Given the description of an element on the screen output the (x, y) to click on. 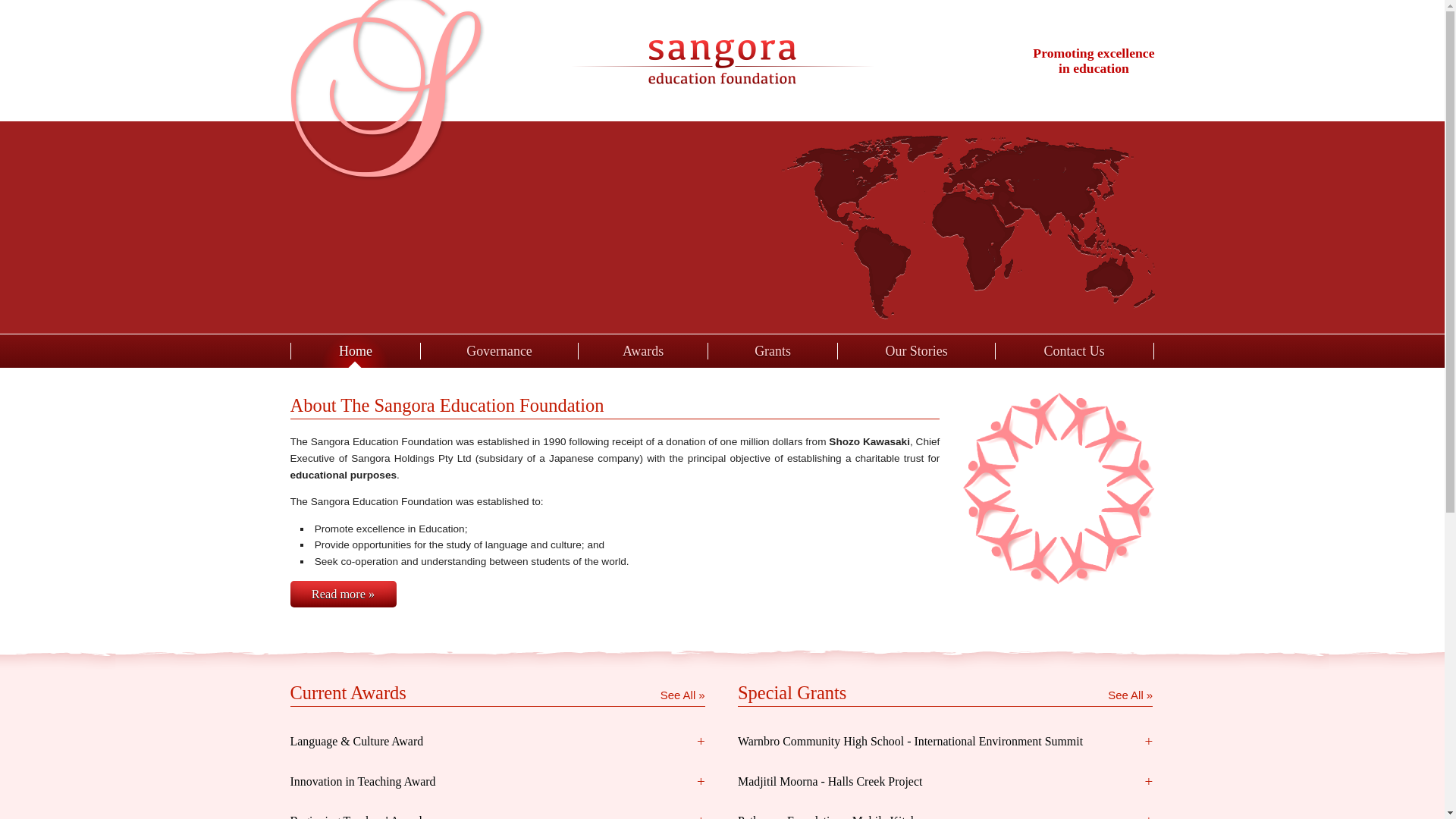
Our Stories Element type: text (916, 350)
Contact Us Element type: text (1074, 350)
Grants Element type: text (772, 350)
Awards Element type: text (642, 350)
Governance Element type: text (499, 350)
Return to Home Element type: hover (721, 60)
Home Element type: text (354, 350)
